Given the description of an element on the screen output the (x, y) to click on. 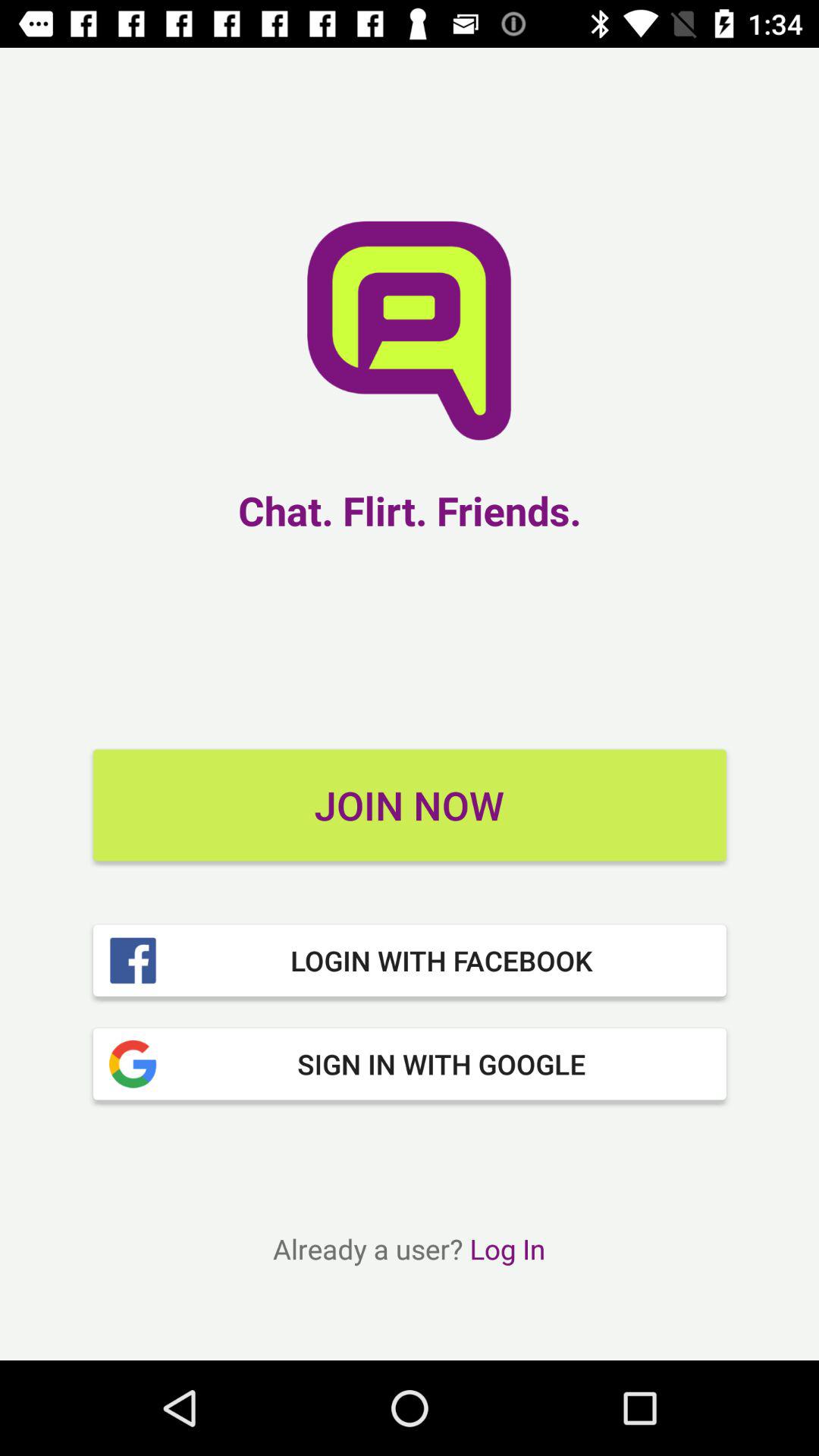
select the icon below the join now icon (409, 960)
